Given the description of an element on the screen output the (x, y) to click on. 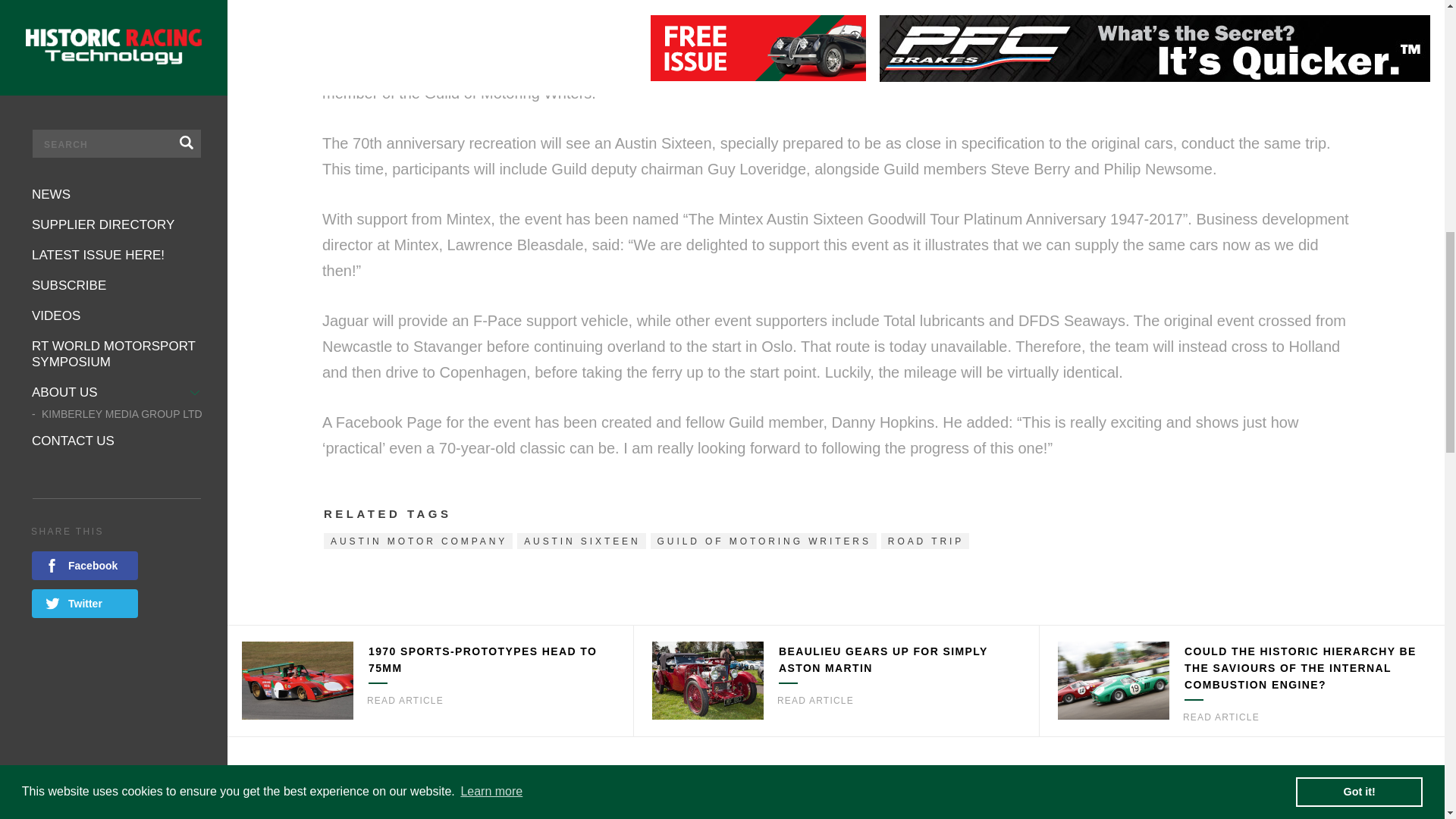
1970 SPORTS-PROTOTYPES HEAD TO 75MM (482, 659)
READ ARTICLE (405, 700)
GUILD OF MOTORING WRITERS (763, 540)
READ ARTICLE (1220, 717)
READ ARTICLE (815, 700)
AUSTIN MOTOR COMPANY (417, 540)
ROAD TRIP (924, 540)
AUSTIN SIXTEEN (580, 540)
BEAULIEU GEARS UP FOR SIMPLY ASTON MARTIN (882, 659)
